Given the description of an element on the screen output the (x, y) to click on. 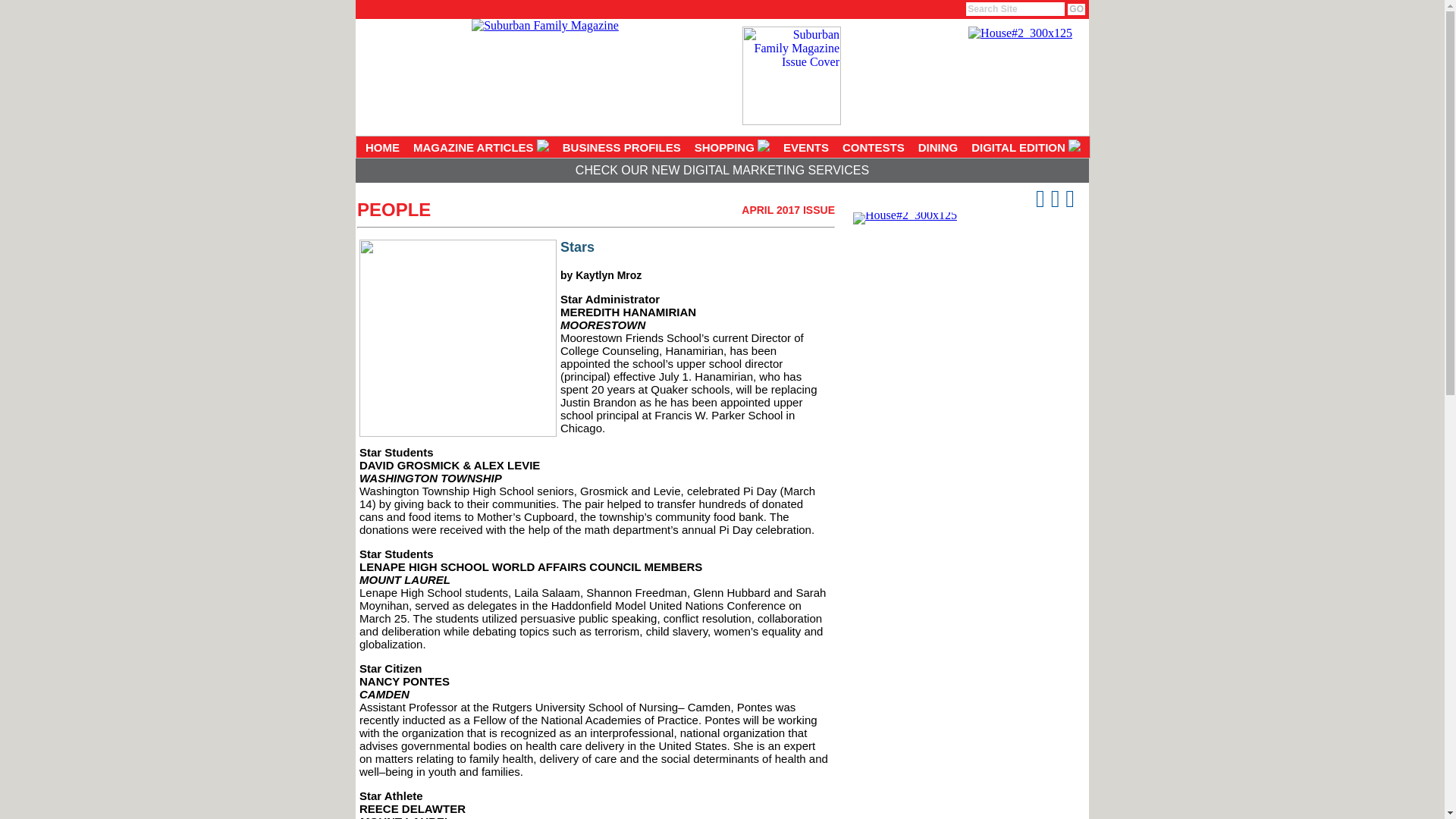
APRIL 2017 ISSUE (787, 209)
CHECK OUR NEW DIGITAL MARKETING SERVICES (722, 169)
DINING (937, 147)
HOME (381, 147)
GO (1075, 9)
EVENTS (805, 147)
DIGITAL EDITION (1026, 147)
PEOPLE (393, 209)
GO (1075, 9)
SHOPPING (731, 147)
